Given the description of an element on the screen output the (x, y) to click on. 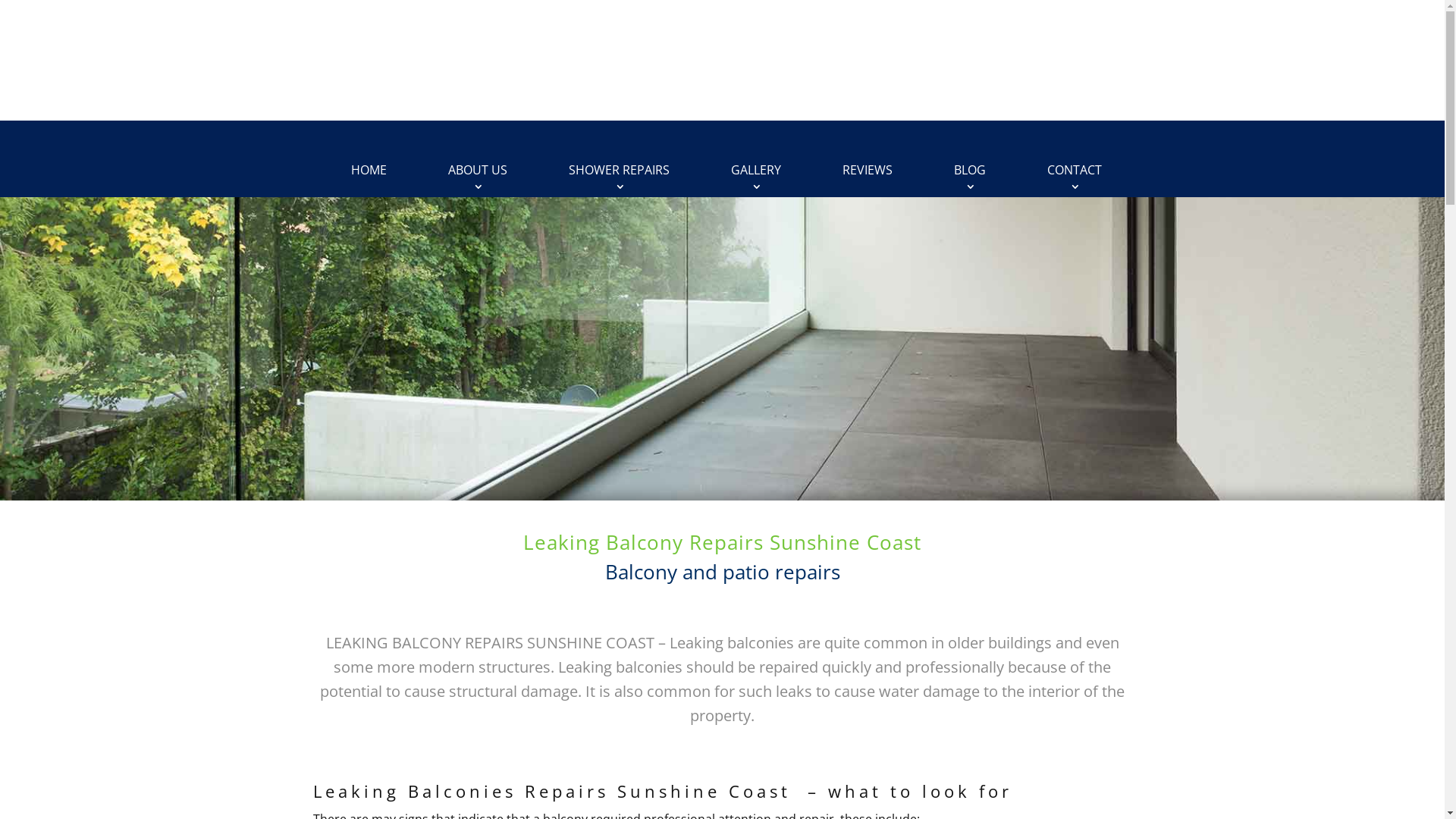
REVIEWS Element type: text (867, 171)
HOME Element type: text (368, 171)
ABOUT US Element type: text (477, 171)
GALLERY Element type: text (755, 171)
BLOG Element type: text (969, 171)
CONTACT Element type: text (1074, 171)
SHOWER REPAIRS Element type: text (619, 171)
